Given the description of an element on the screen output the (x, y) to click on. 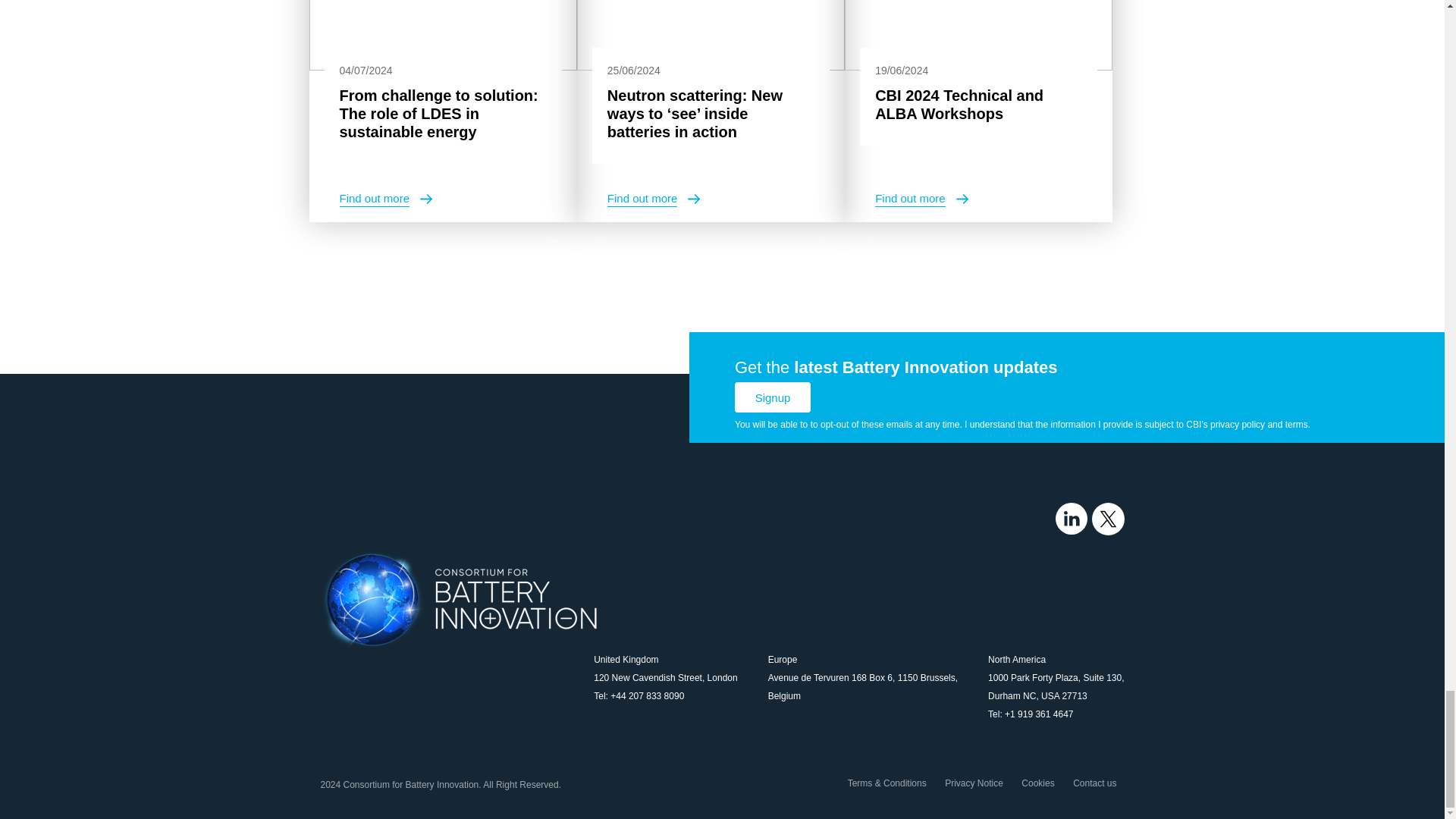
Find out more (653, 199)
privacy policy (1237, 424)
Signup (772, 397)
Find out more (921, 199)
Find out more (385, 199)
terms (1296, 424)
Privacy Notice (973, 783)
